Given the description of an element on the screen output the (x, y) to click on. 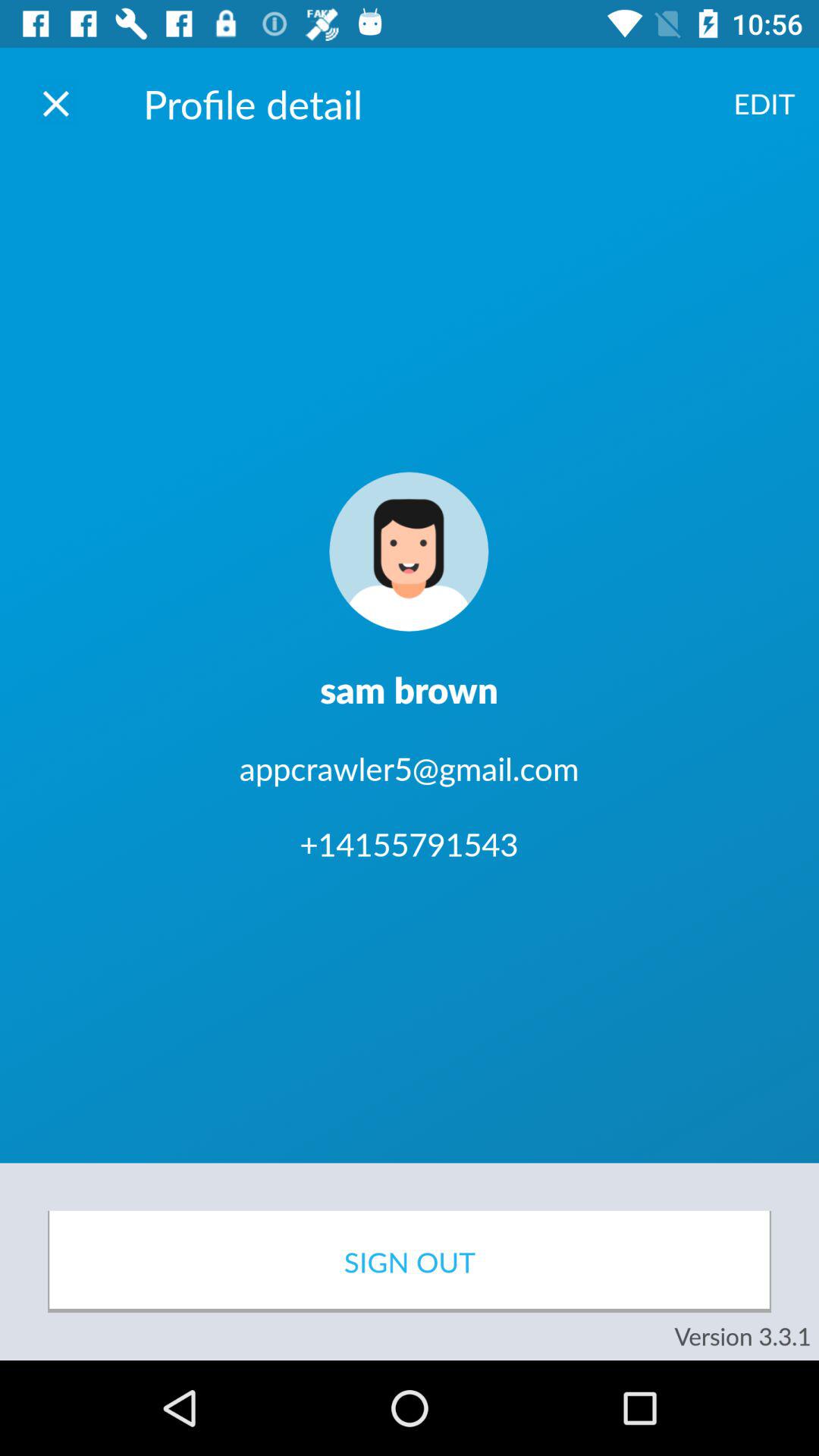
turn off icon above the sign out icon (764, 103)
